Given the description of an element on the screen output the (x, y) to click on. 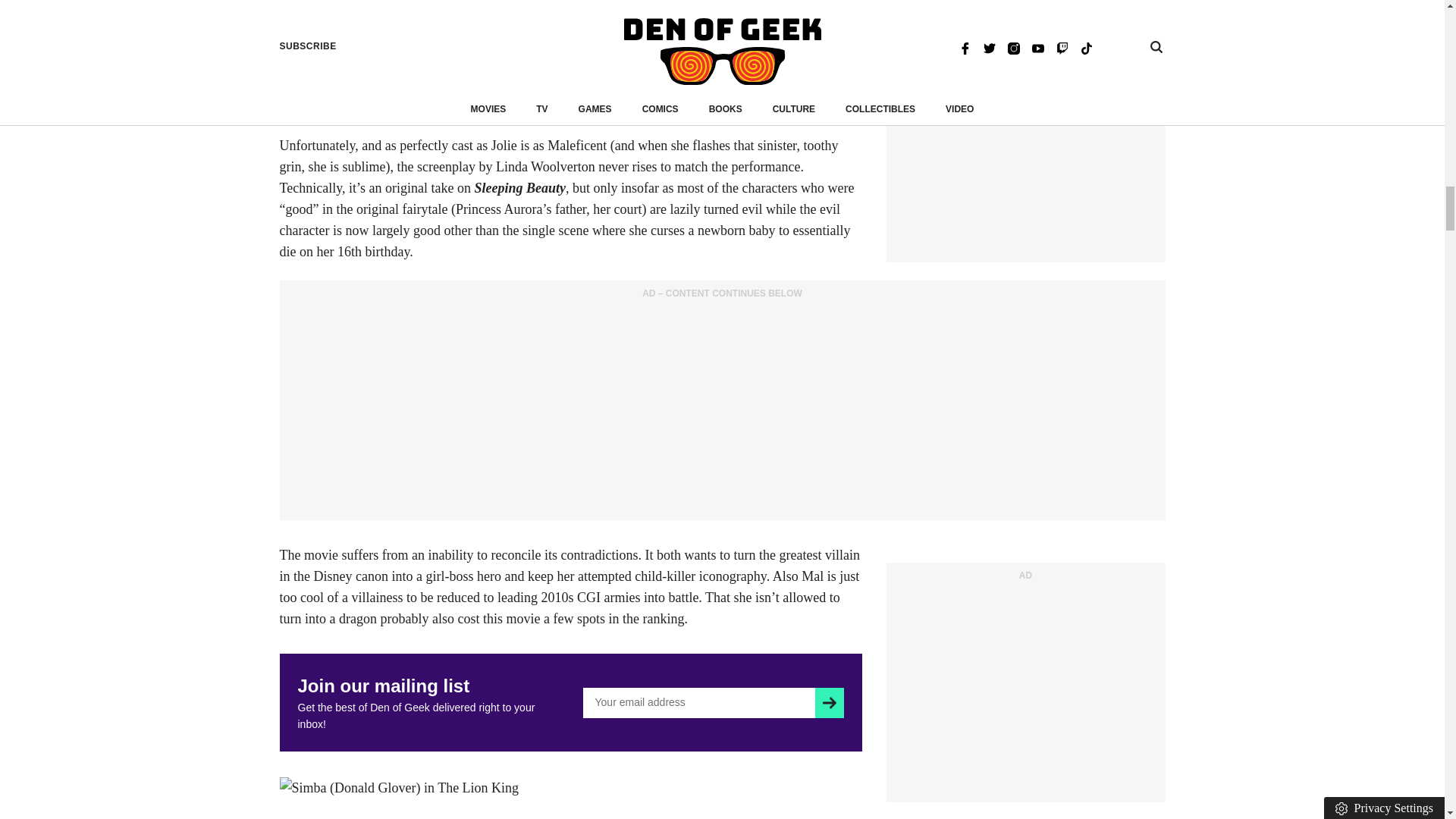
Subscribe (829, 702)
Maleficent (435, 78)
Angelina Jolie (318, 78)
